Given the description of an element on the screen output the (x, y) to click on. 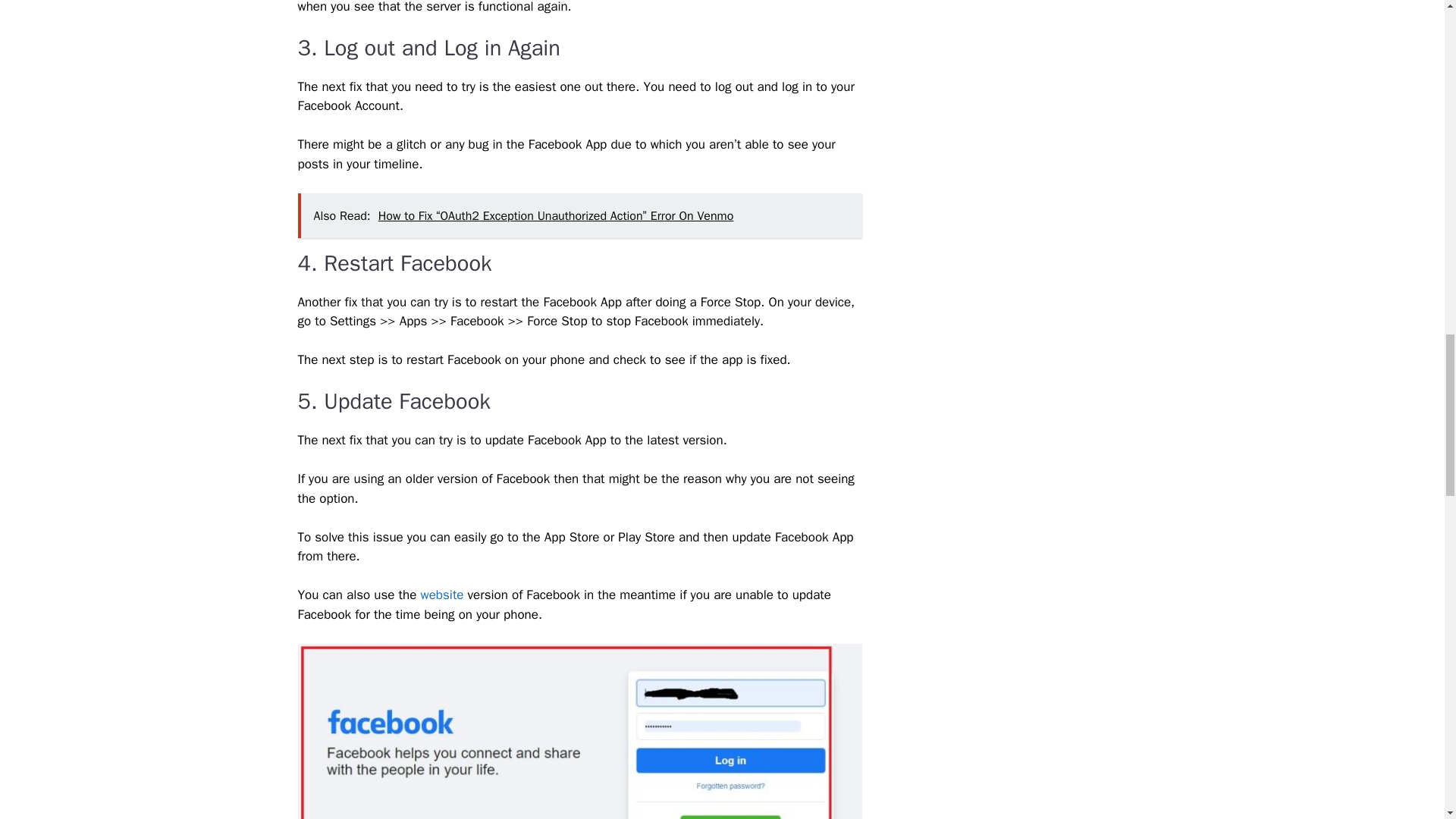
website (443, 594)
